Given the description of an element on the screen output the (x, y) to click on. 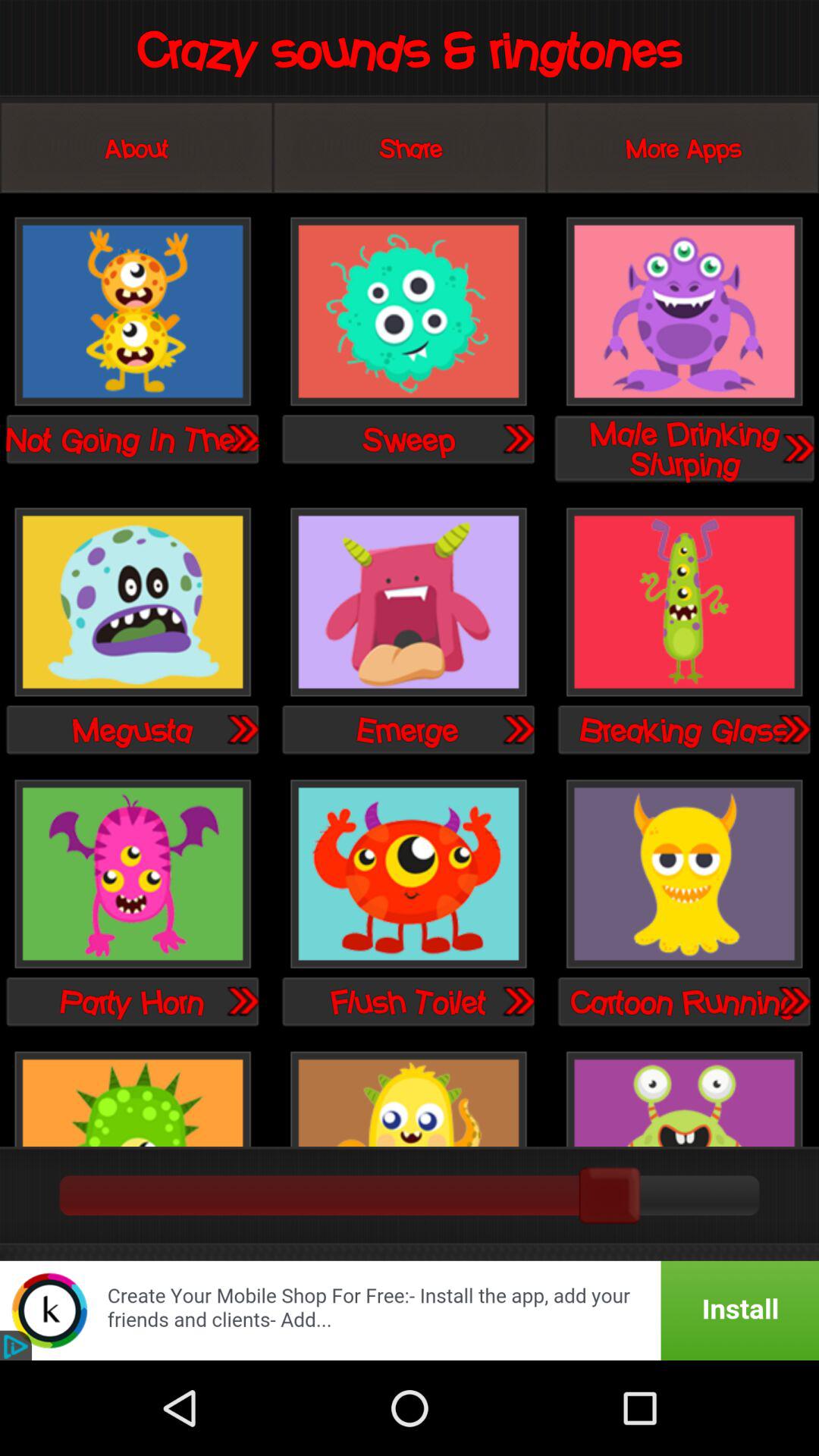
flush ringtone (408, 874)
